Given the description of an element on the screen output the (x, y) to click on. 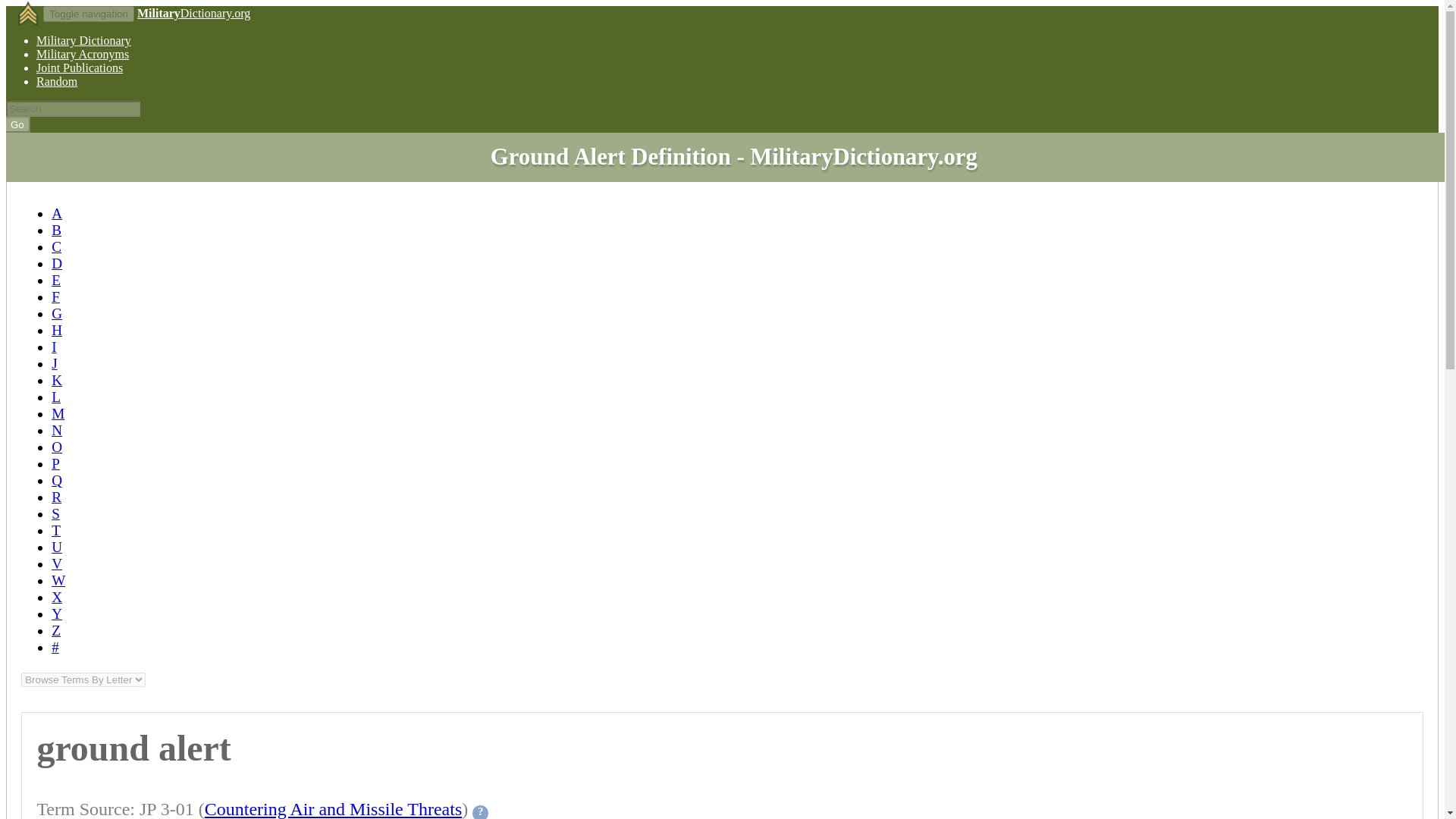
Joint Publications (79, 67)
Go (17, 124)
Toggle navigation (88, 13)
Military Dictionary (83, 40)
MilitaryDictionary.org (193, 12)
Countering Air and Missile Threats (334, 809)
Military Terms (83, 40)
Random (56, 81)
Military Acronyms (82, 53)
